Given the description of an element on the screen output the (x, y) to click on. 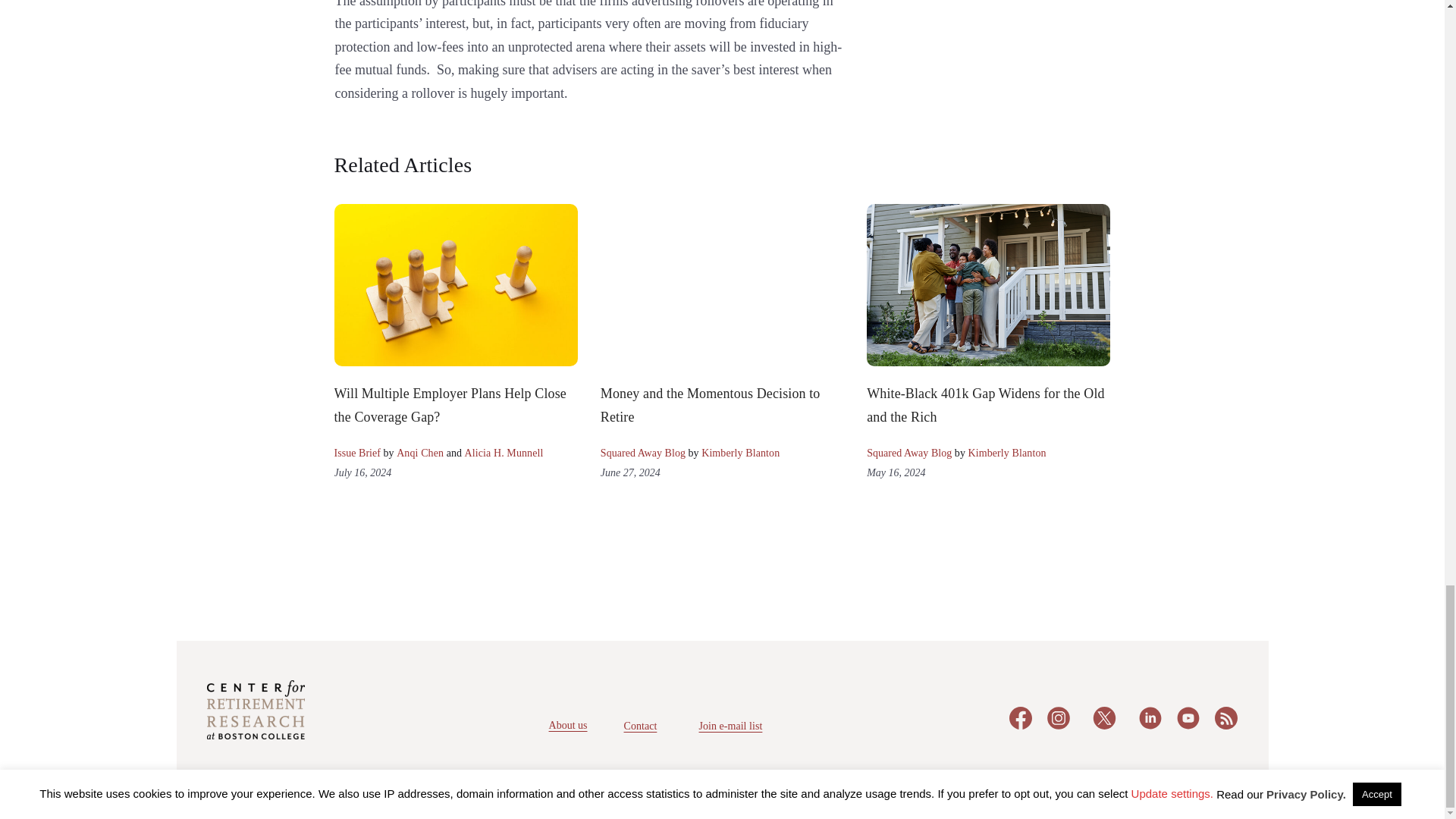
Posts by Anqi Chen (420, 452)
Posts by Alicia H. Munnell (503, 452)
Will Multiple Employer Plans Help Close the Coverage Gap? (449, 405)
Posts by Kimberly Blanton (1006, 452)
Money and the Momentous Decision to Retire (710, 405)
Issue Brief (356, 452)
Alicia H. Munnell (503, 452)
Kimberly Blanton (739, 452)
Squared Away Blog (642, 452)
Posts by Kimberly Blanton (739, 452)
Anqi Chen (420, 452)
